Given the description of an element on the screen output the (x, y) to click on. 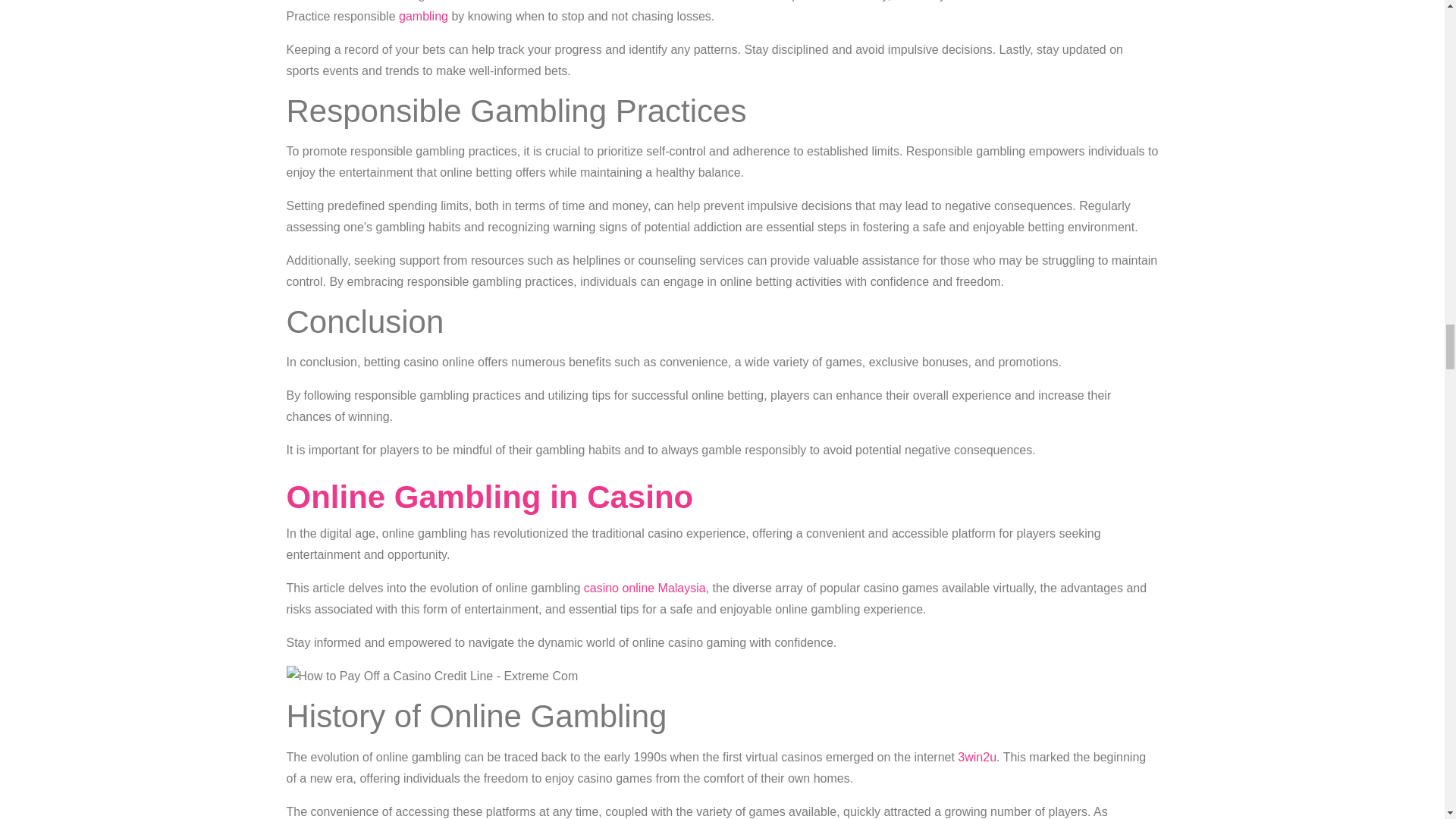
gambling (423, 15)
3win2u (976, 757)
casino online Malaysia (644, 587)
Online Gambling in Casino (490, 497)
